Given the description of an element on the screen output the (x, y) to click on. 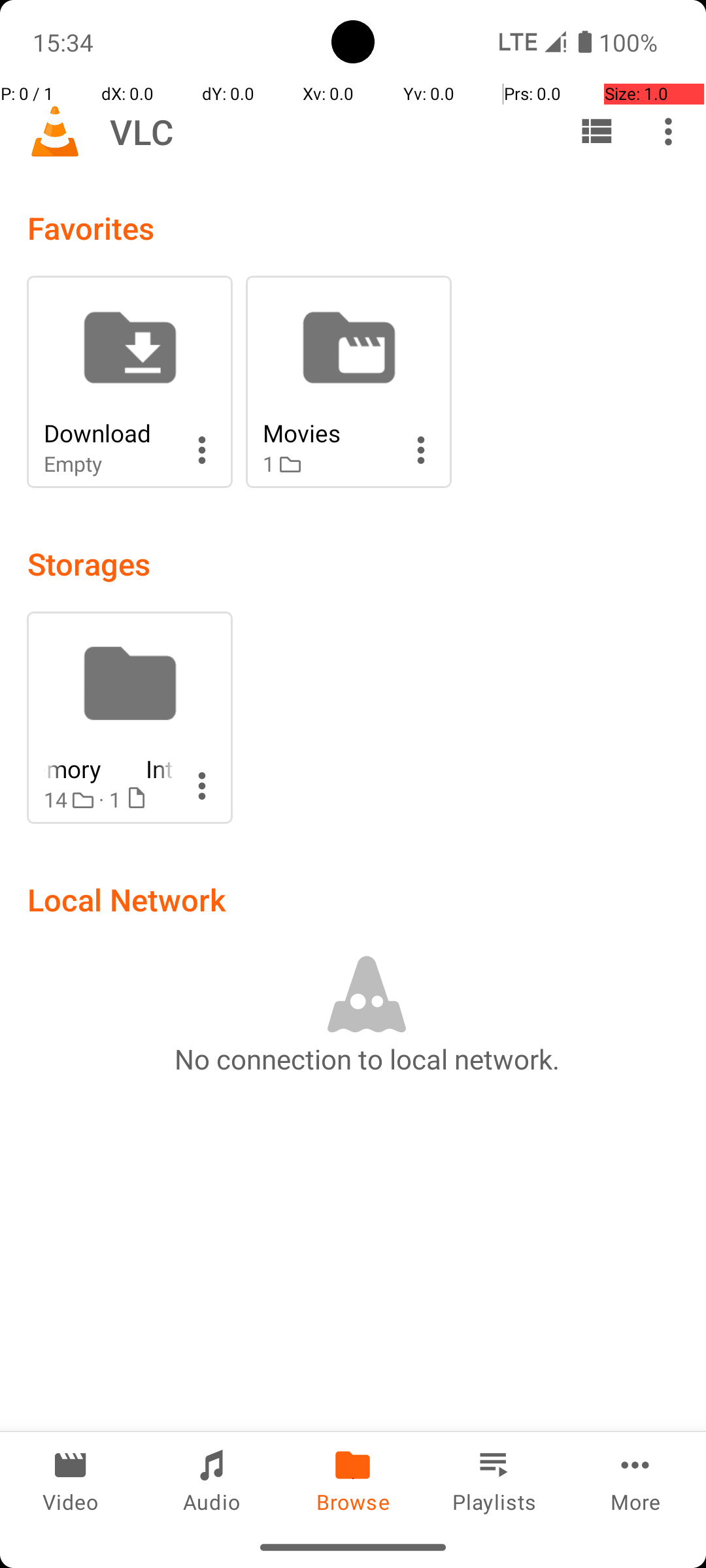
Favorite: Download, Empty Element type: androidx.cardview.widget.CardView (129, 381)
Favorite: Movies, 1 subfolder Element type: androidx.cardview.widget.CardView (348, 381)
Folder: Internal memory, 14 subfolders, 1 media file Element type: androidx.cardview.widget.CardView (129, 717)
14 §*§ · 1 *§* Element type: android.widget.TextView (108, 799)
